Given the description of an element on the screen output the (x, y) to click on. 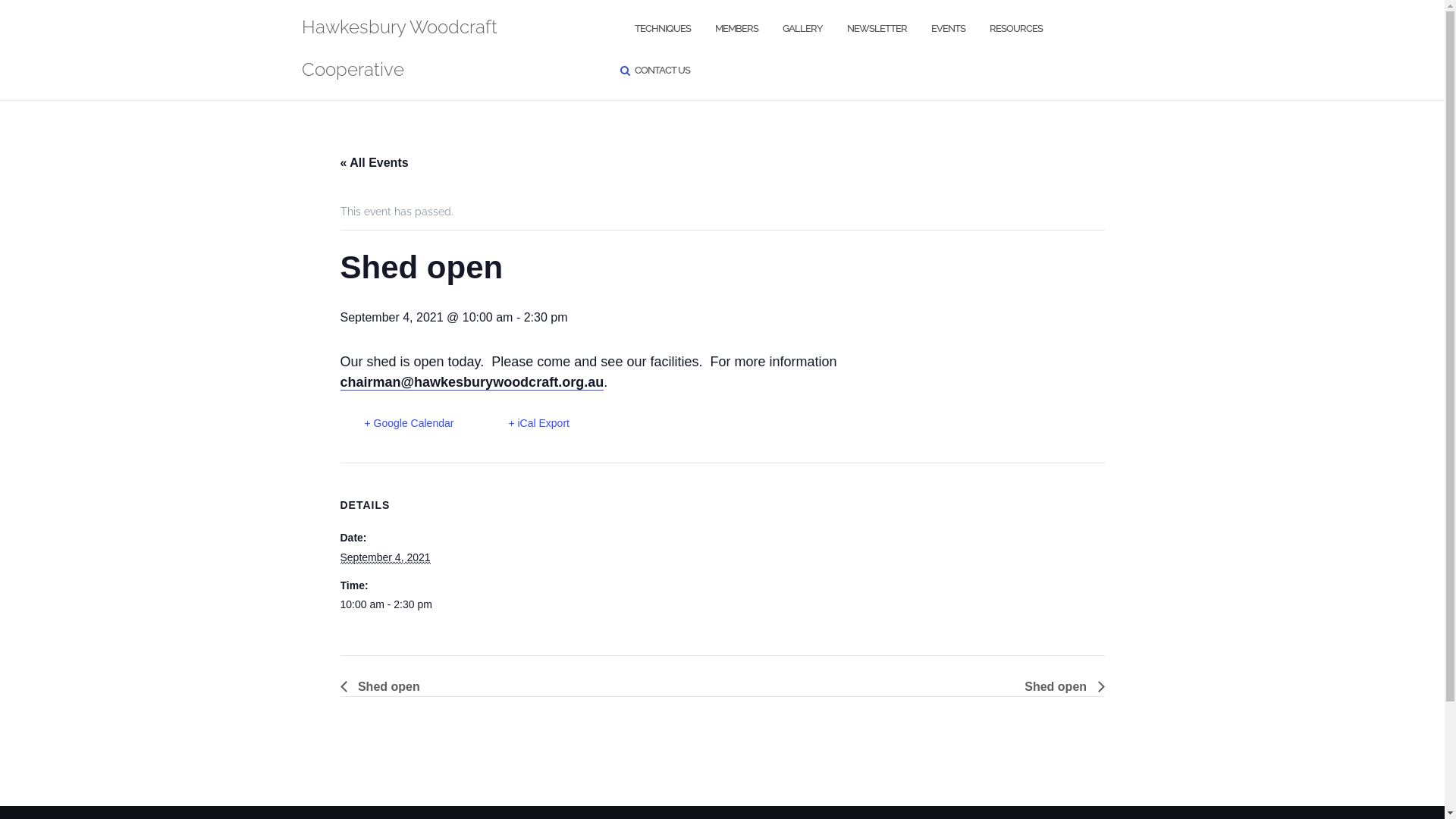
CONTACT US Element type: text (662, 70)
+ Google Calendar Element type: text (396, 423)
NEWSLETTER Element type: text (876, 29)
Shed open Element type: text (383, 686)
GALLERY Element type: text (802, 29)
Shed open Element type: text (1060, 686)
EVENTS Element type: text (948, 29)
TECHNIQUES Element type: text (662, 29)
Hawkesbury Woodcraft Cooperative Element type: text (444, 49)
RESOURCES Element type: text (1015, 29)
+ iCal Export Element type: text (526, 423)
chairman@hawkesburywoodcraft.org.au Element type: text (471, 382)
MEMBERS Element type: text (736, 29)
